Given the description of an element on the screen output the (x, y) to click on. 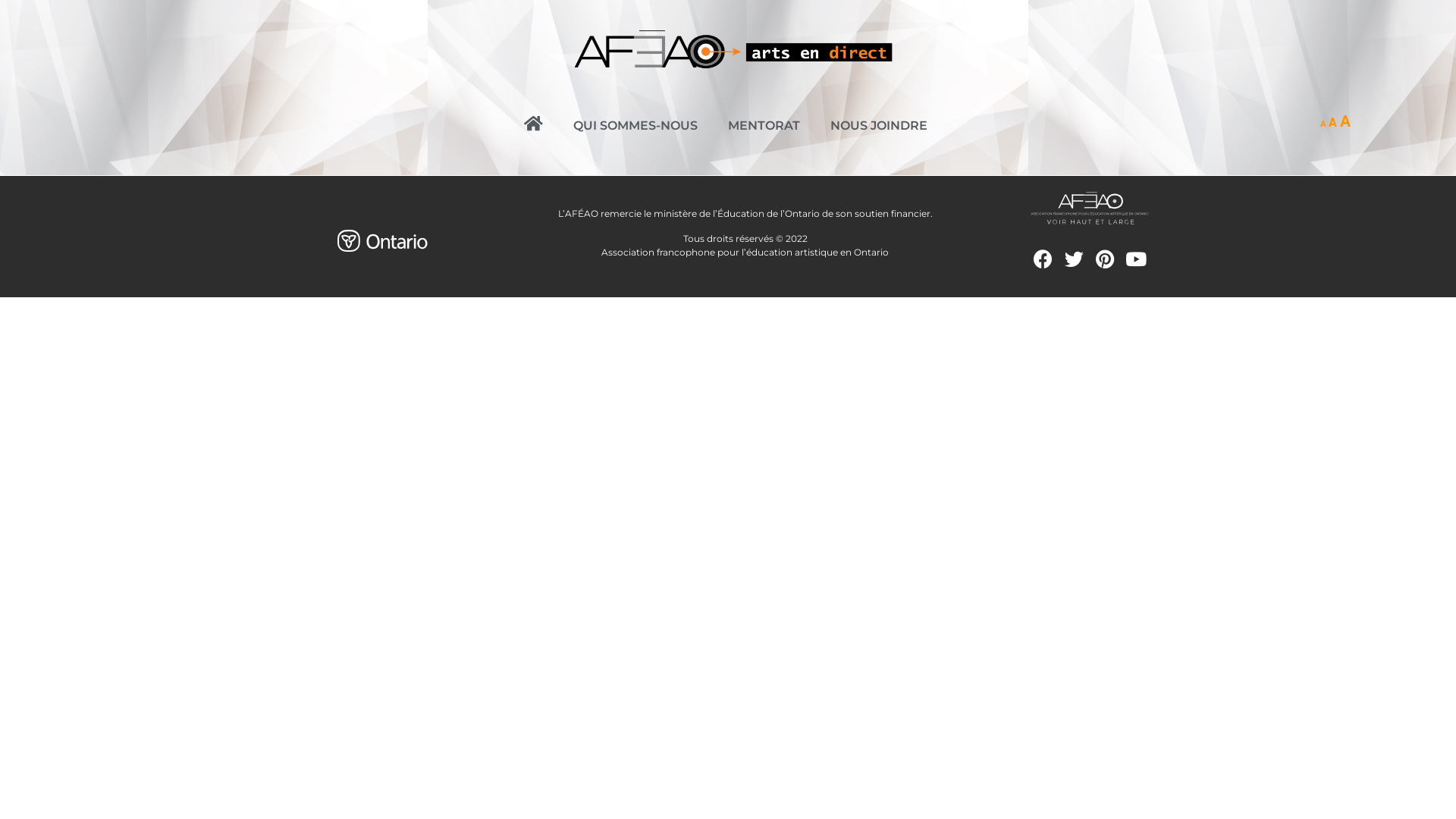
A Element type: text (1322, 123)
A Element type: text (1332, 122)
NOUS JOINDRE Element type: text (878, 125)
QUI SOMMES-NOUS Element type: text (635, 125)
A Element type: text (1344, 121)
MENTORAT Element type: text (763, 125)
